Given the description of an element on the screen output the (x, y) to click on. 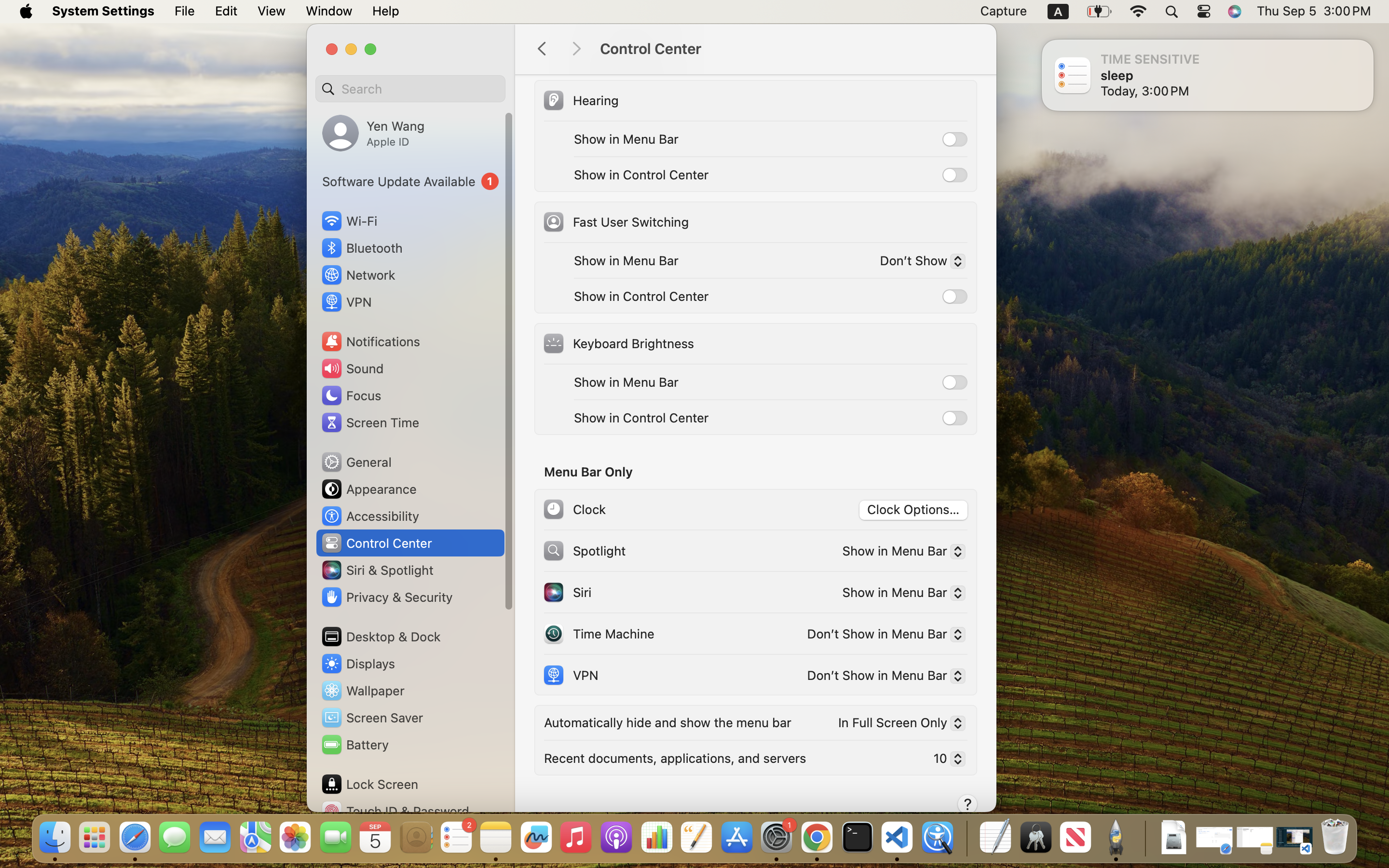
Battery Element type: AXStaticText (354, 744)
Don’t Show Element type: AXPopUpButton (918, 262)
Show Percentage Element type: AXStaticText (624, 52)
General Element type: AXStaticText (355, 461)
Accessibility Element type: AXStaticText (369, 515)
